Given the description of an element on the screen output the (x, y) to click on. 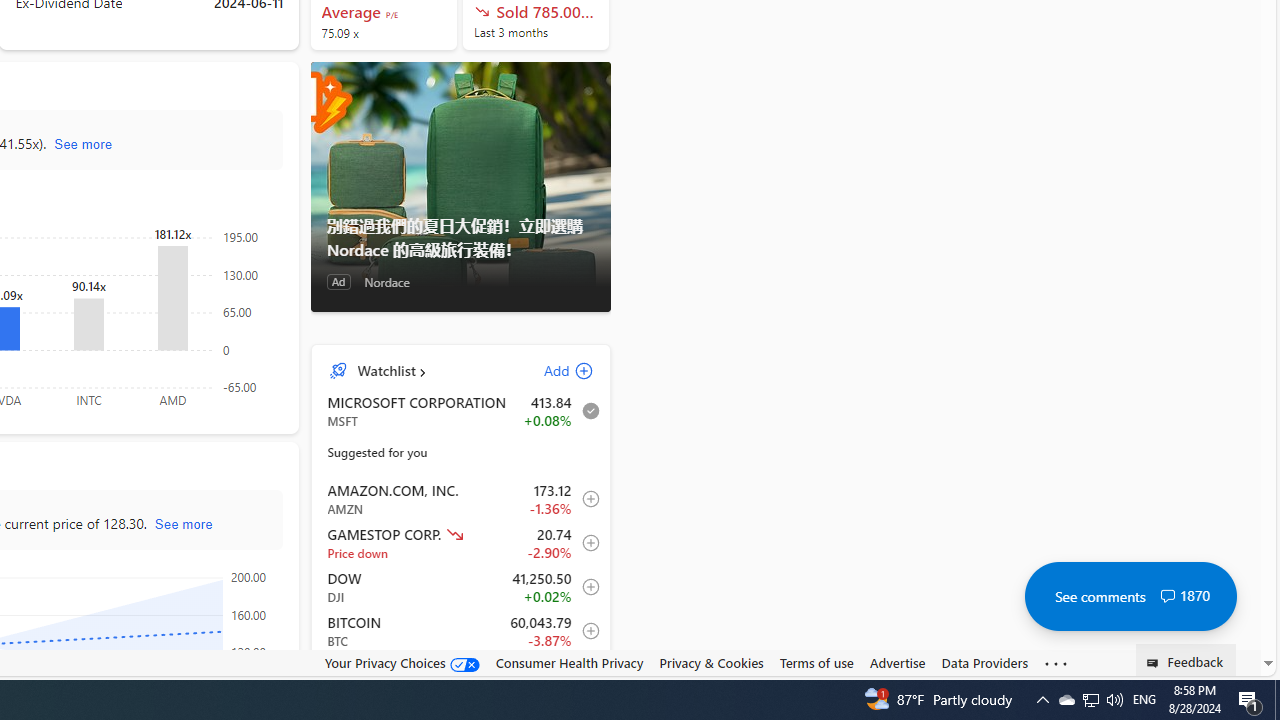
Class: oneFooter_seeMore-DS-EntryPoint1-1 (1055, 663)
Class: cwt-icon-vector (1167, 596)
Terms of use (816, 663)
Remove from watchlist (585, 411)
ETH Ethereum decrease 2,529.56 -87.30 -3.45% item4 (461, 674)
Privacy & Cookies (711, 662)
Consumer Health Privacy (569, 662)
BTC Bitcoin decrease 60,043.79 -2,323.69 -3.87% item3 (461, 631)
Consumer Health Privacy (569, 663)
